Given the description of an element on the screen output the (x, y) to click on. 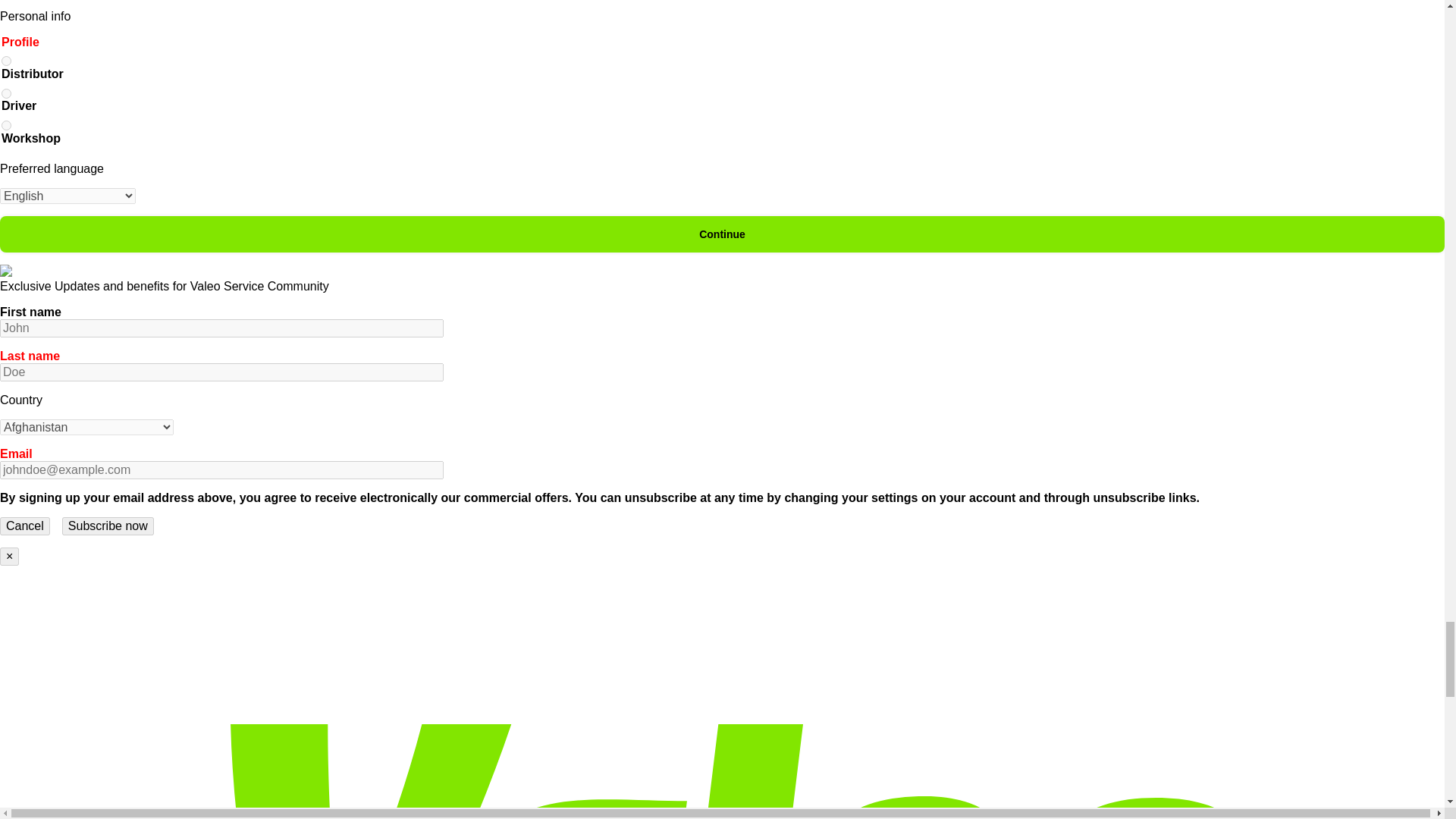
driver (6, 93)
workshop (6, 125)
Cancel (24, 525)
distributor (6, 61)
Subscribe now (108, 525)
